Given the description of an element on the screen output the (x, y) to click on. 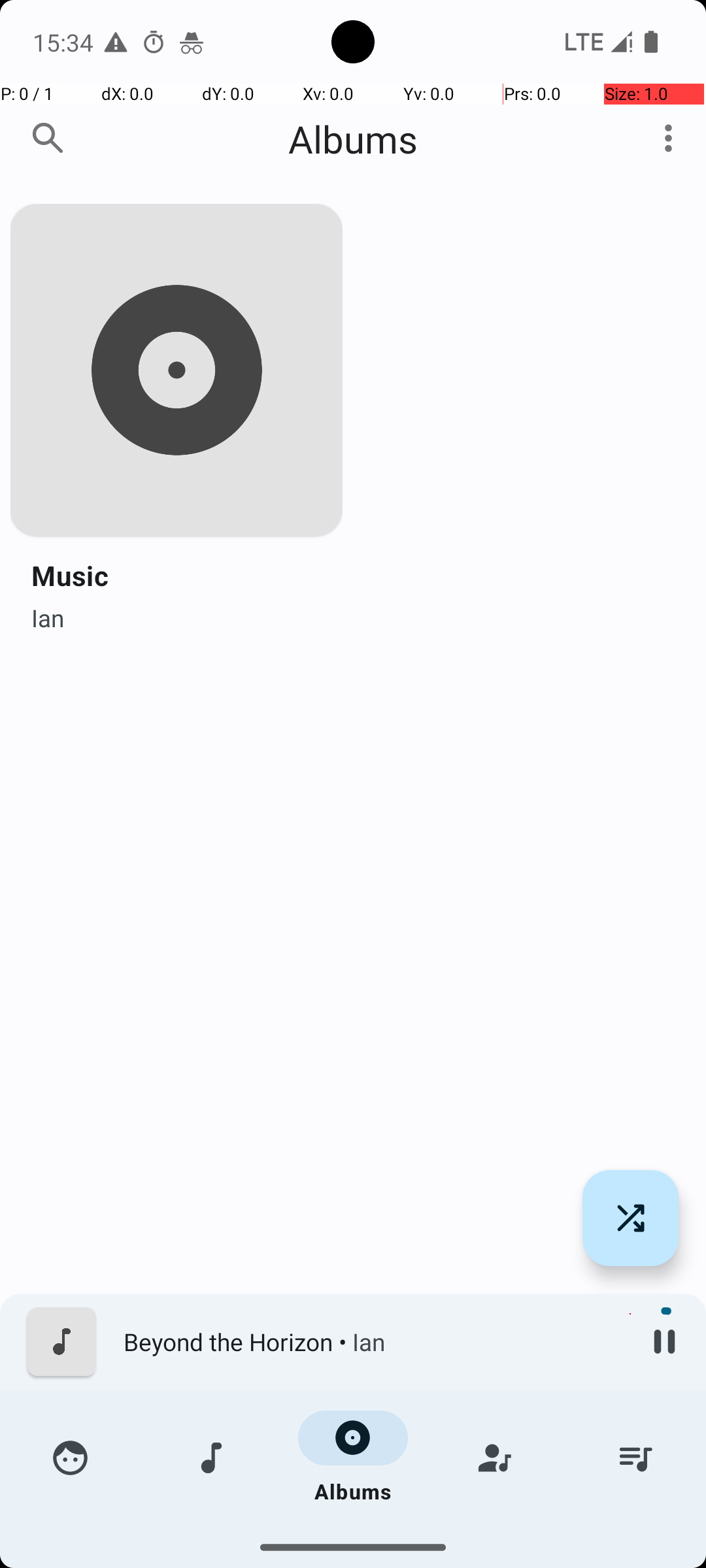
Beyond the Horizon • Ian Element type: android.widget.TextView (372, 1341)
Music Element type: android.widget.TextView (69, 574)
Ian Element type: android.widget.TextView (47, 613)
